Given the description of an element on the screen output the (x, y) to click on. 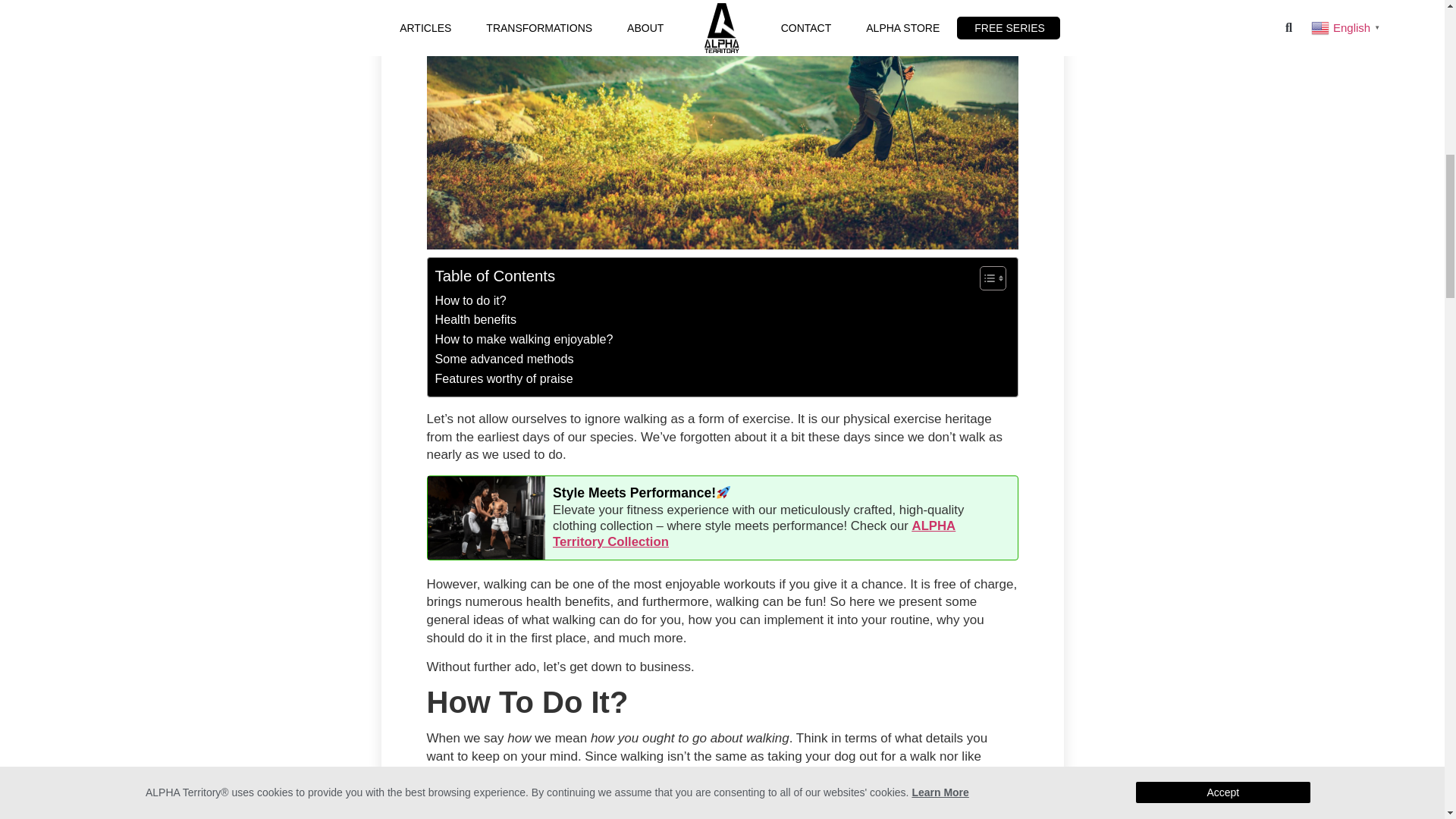
Health benefits (475, 320)
How to make walking enjoyable? (523, 339)
How to do it? (470, 301)
Some advanced methods (504, 359)
Features worthy of praise (504, 379)
